Given the description of an element on the screen output the (x, y) to click on. 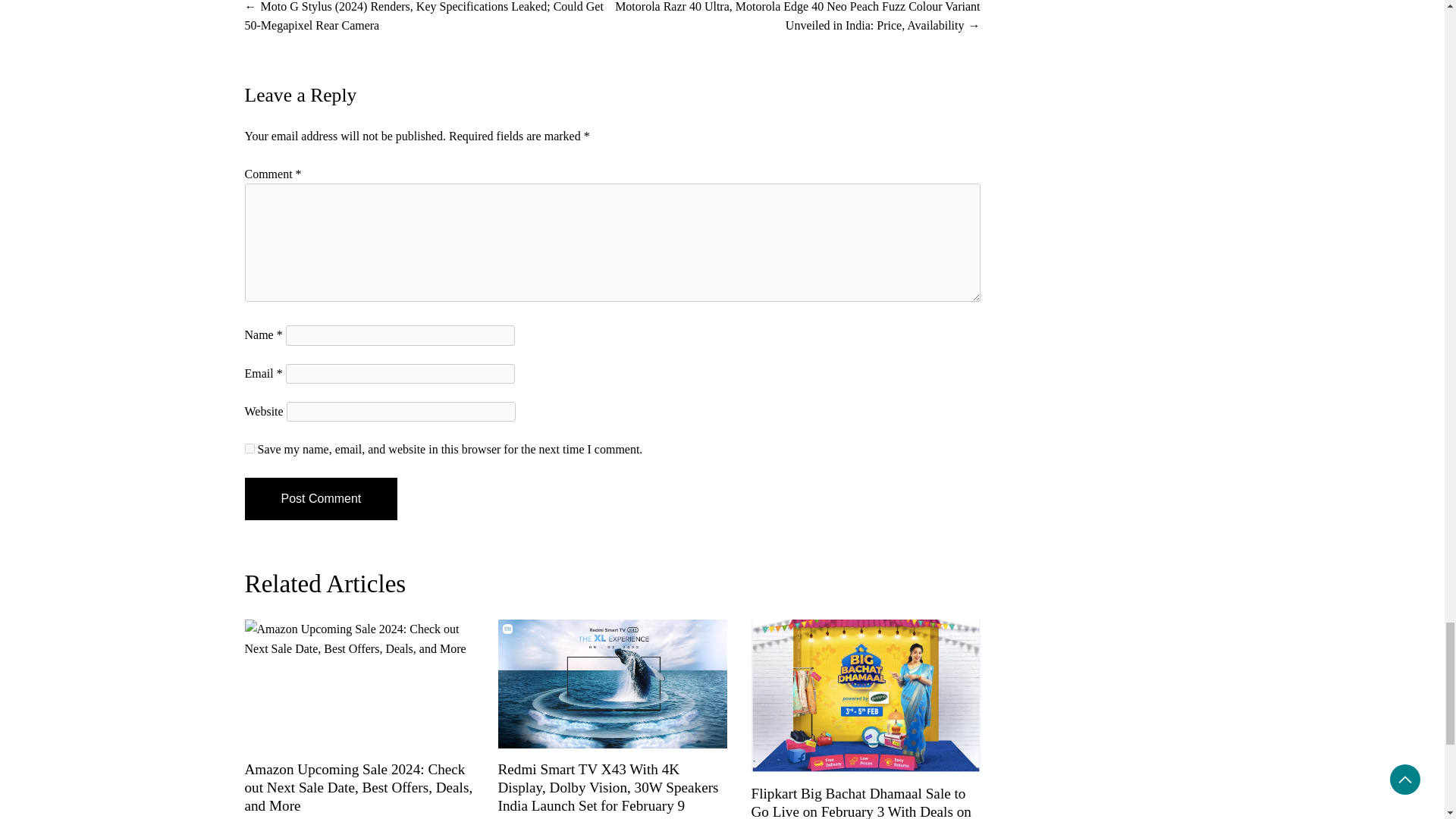
Post Comment (320, 498)
yes (248, 448)
Post Comment (320, 498)
